Given the description of an element on the screen output the (x, y) to click on. 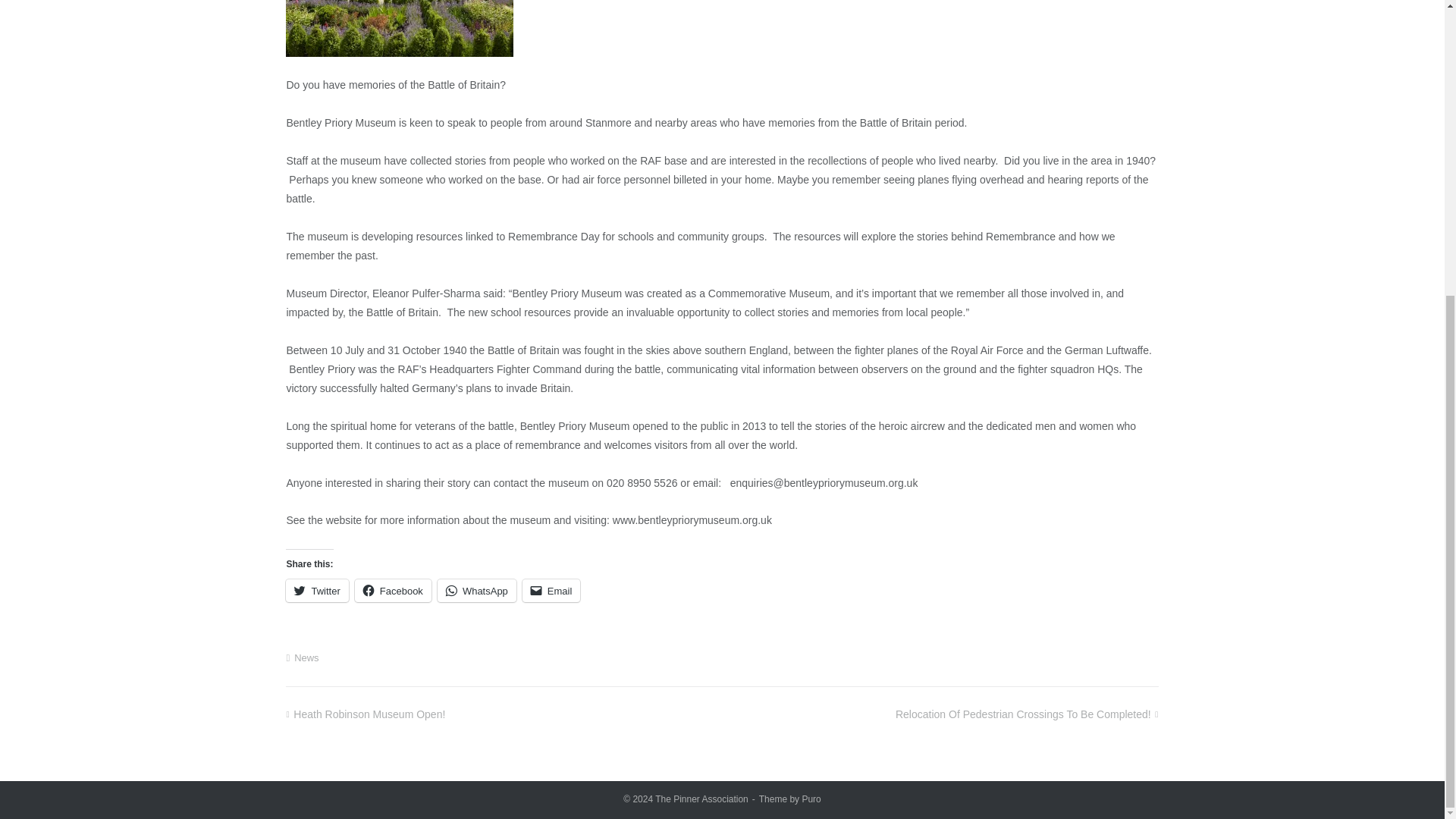
Heath Robinson Museum Open! (365, 714)
Click to share on WhatsApp (477, 590)
Click to email a link to a friend (551, 590)
Click to share on Twitter (316, 590)
Relocation Of Pedestrian Crossings To Be Completed! (1026, 714)
WhatsApp (477, 590)
The Pinner Association (701, 798)
Twitter (316, 590)
News (306, 657)
Click to share on Facebook (392, 590)
Facebook (392, 590)
Email (551, 590)
Puro (811, 798)
